Given the description of an element on the screen output the (x, y) to click on. 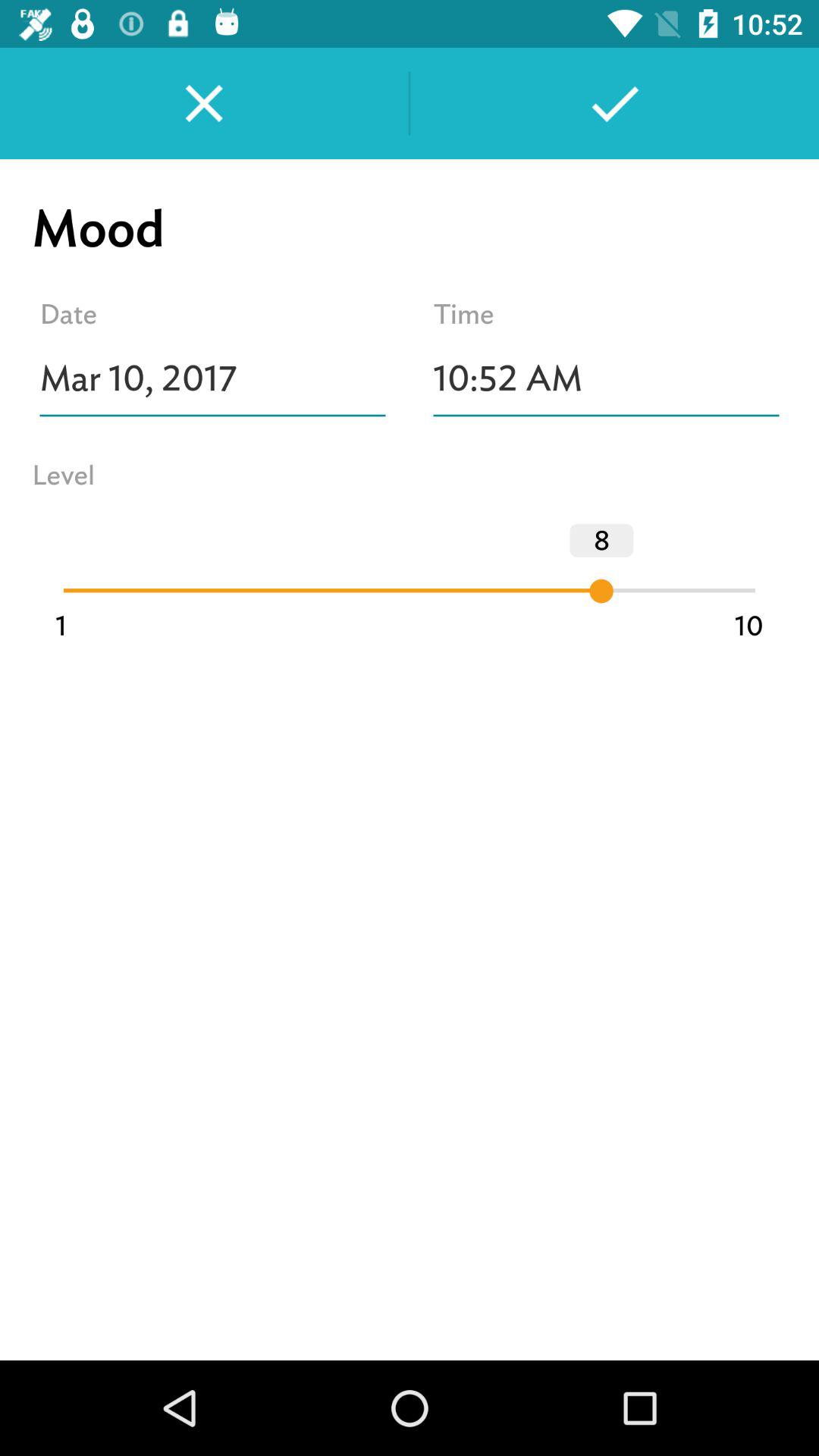
press the item above 8 (606, 378)
